Given the description of an element on the screen output the (x, y) to click on. 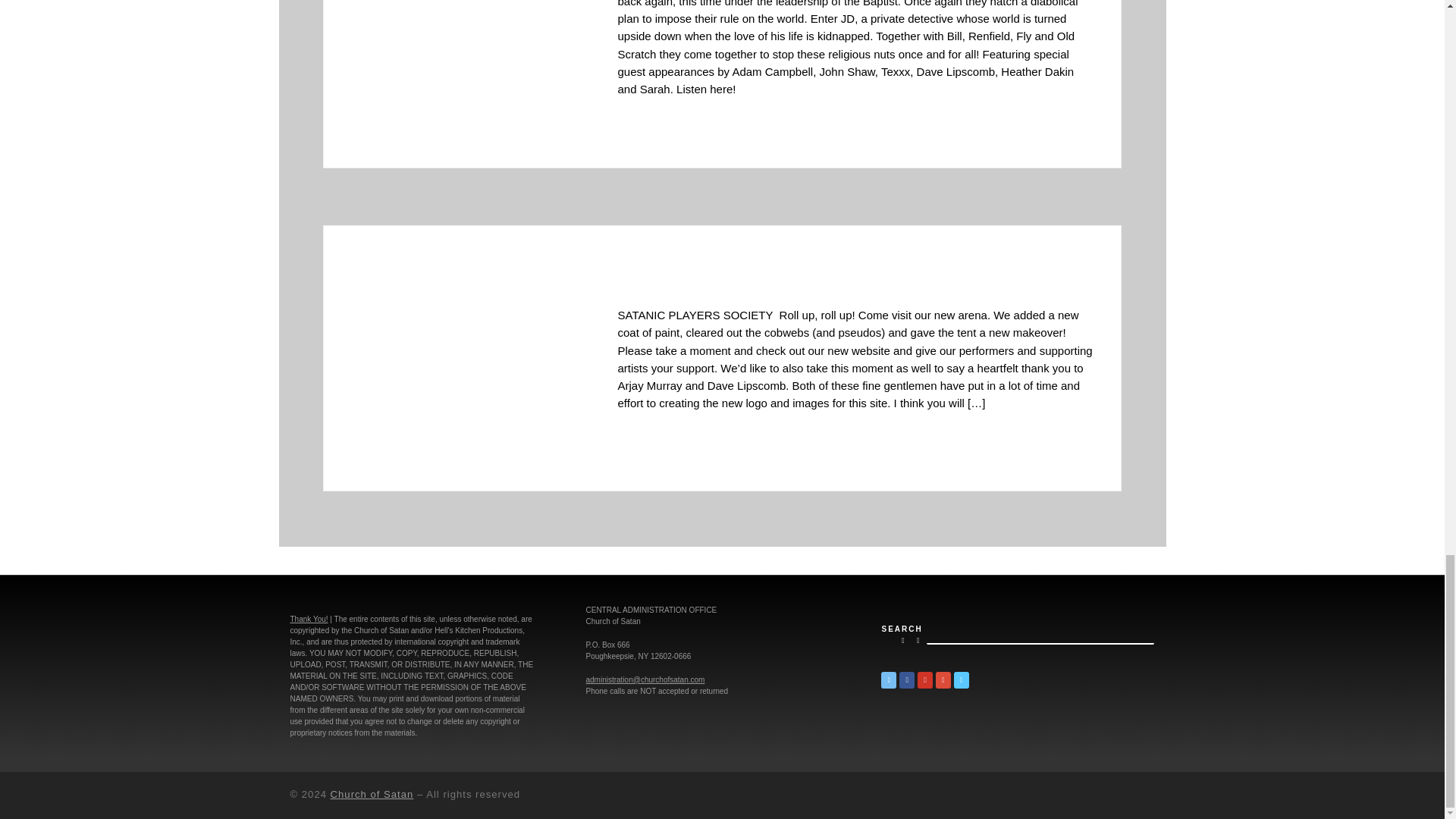
A Very Special Thank You! (308, 619)
Church of Satan on Vimeo (961, 679)
Church of Satan on Facebook (906, 679)
Church of Satan (371, 794)
Church of Satan on YouTube (925, 679)
Church of Satan on Twitter (888, 679)
